Given the description of an element on the screen output the (x, y) to click on. 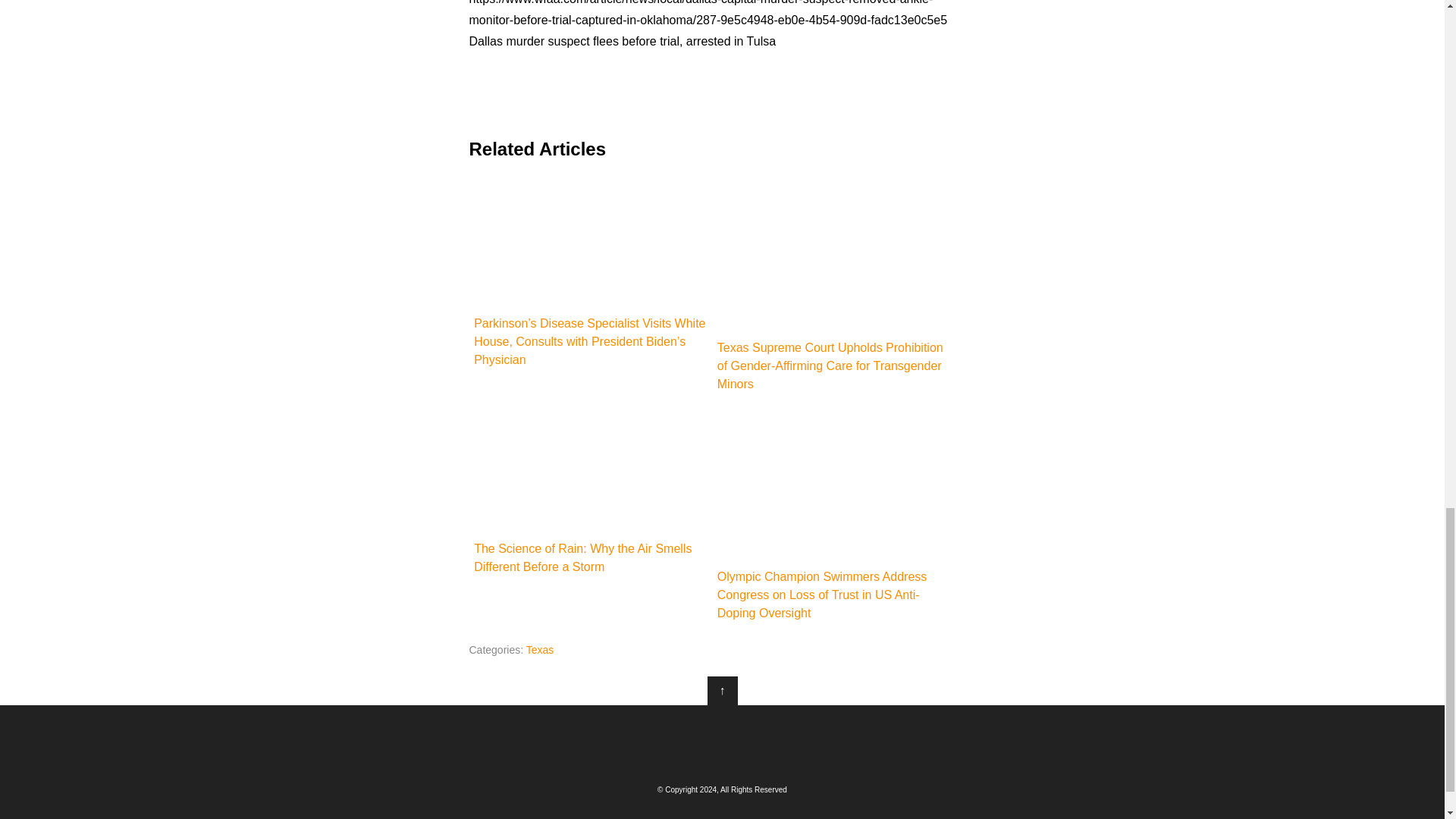
Texasnewstoday.com (721, 742)
Texas (539, 649)
